Given the description of an element on the screen output the (x, y) to click on. 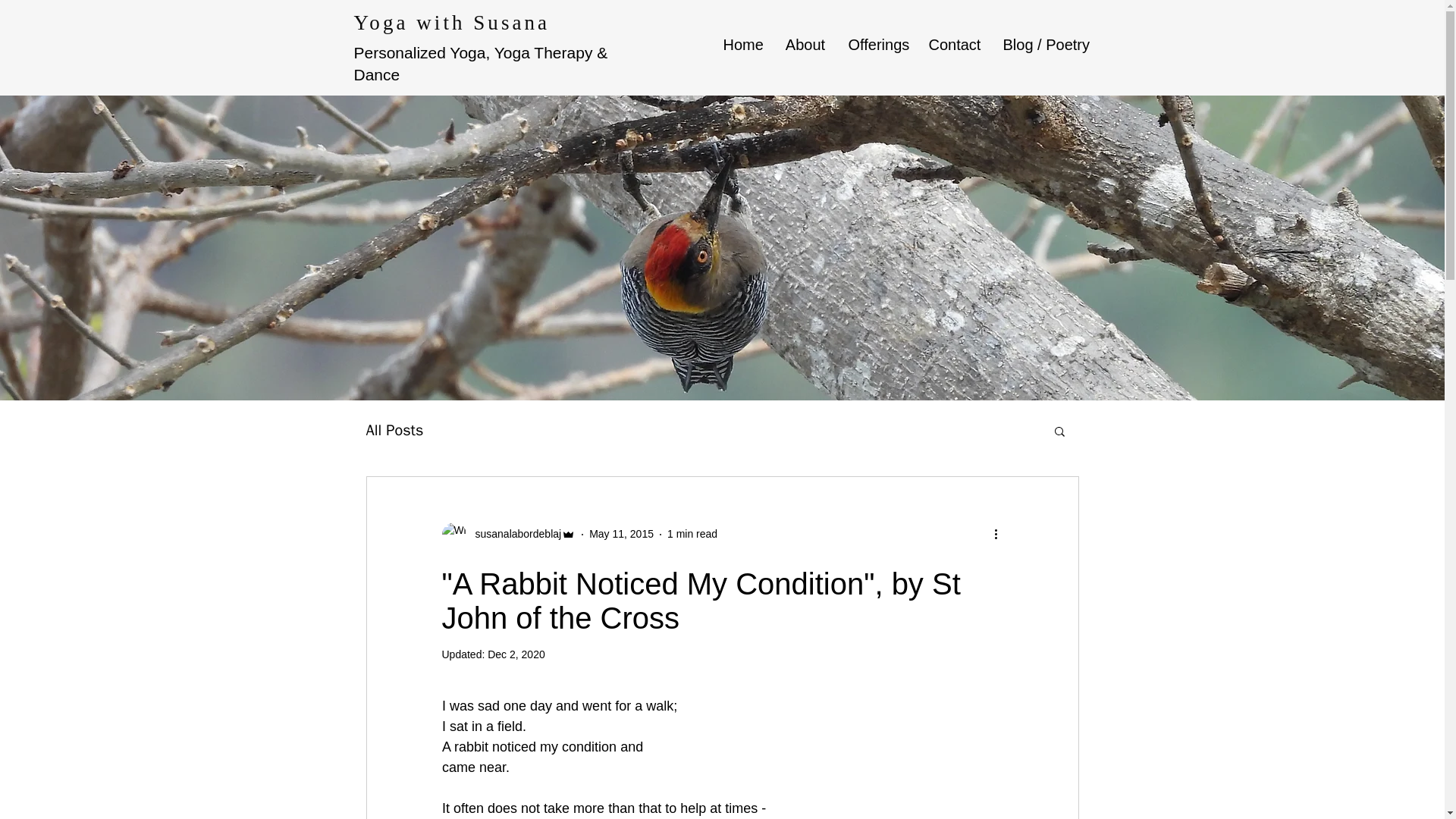
Contact (954, 44)
Dec 2, 2020 (515, 654)
All Posts (394, 430)
Home (742, 44)
May 11, 2015 (621, 533)
susanalabordeblaj (508, 534)
susanalabordeblaj (512, 534)
1 min read (691, 533)
